Given the description of an element on the screen output the (x, y) to click on. 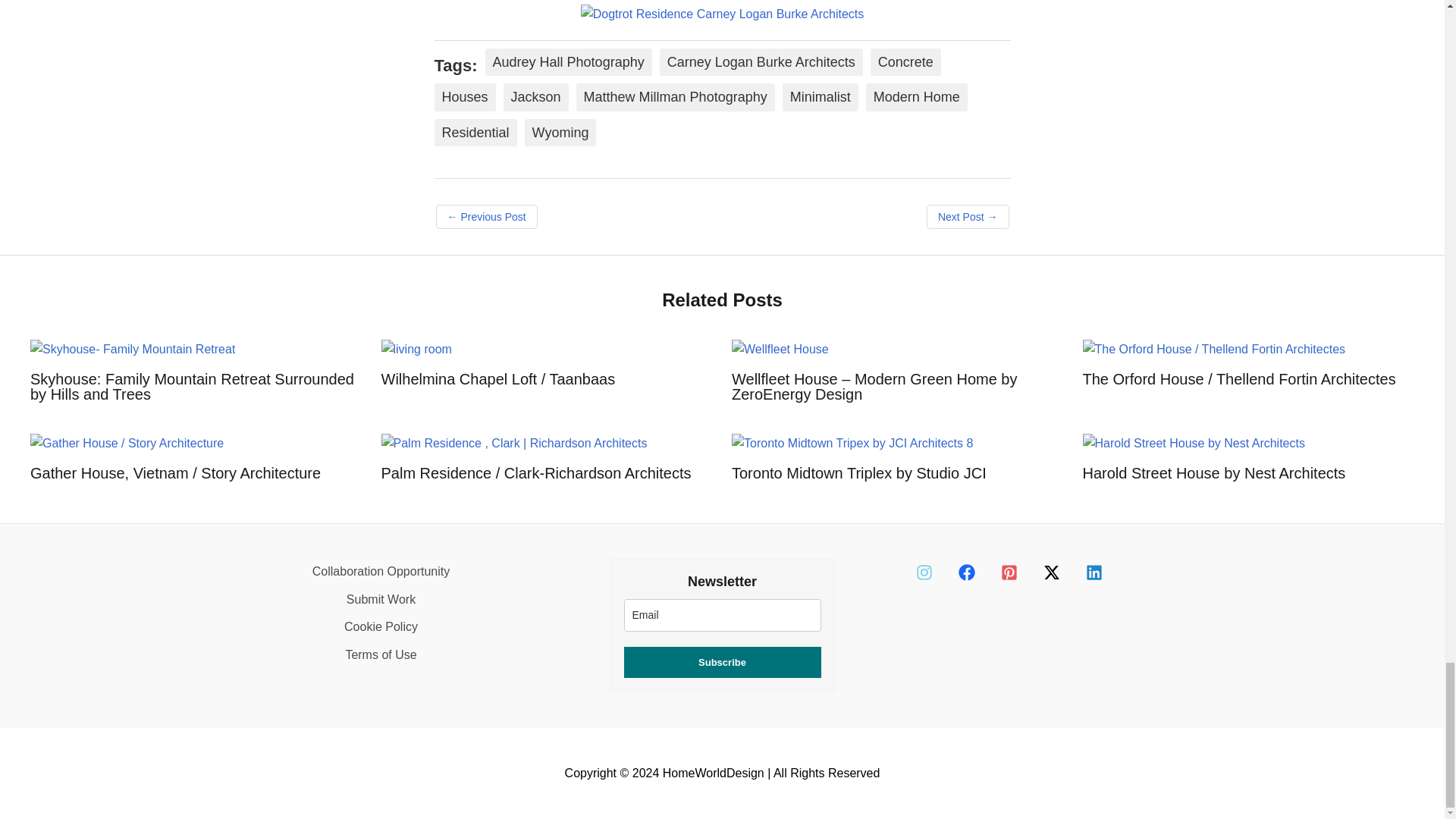
EOH IT Hub in Prague by Studio Perspektiv (486, 216)
